Given the description of an element on the screen output the (x, y) to click on. 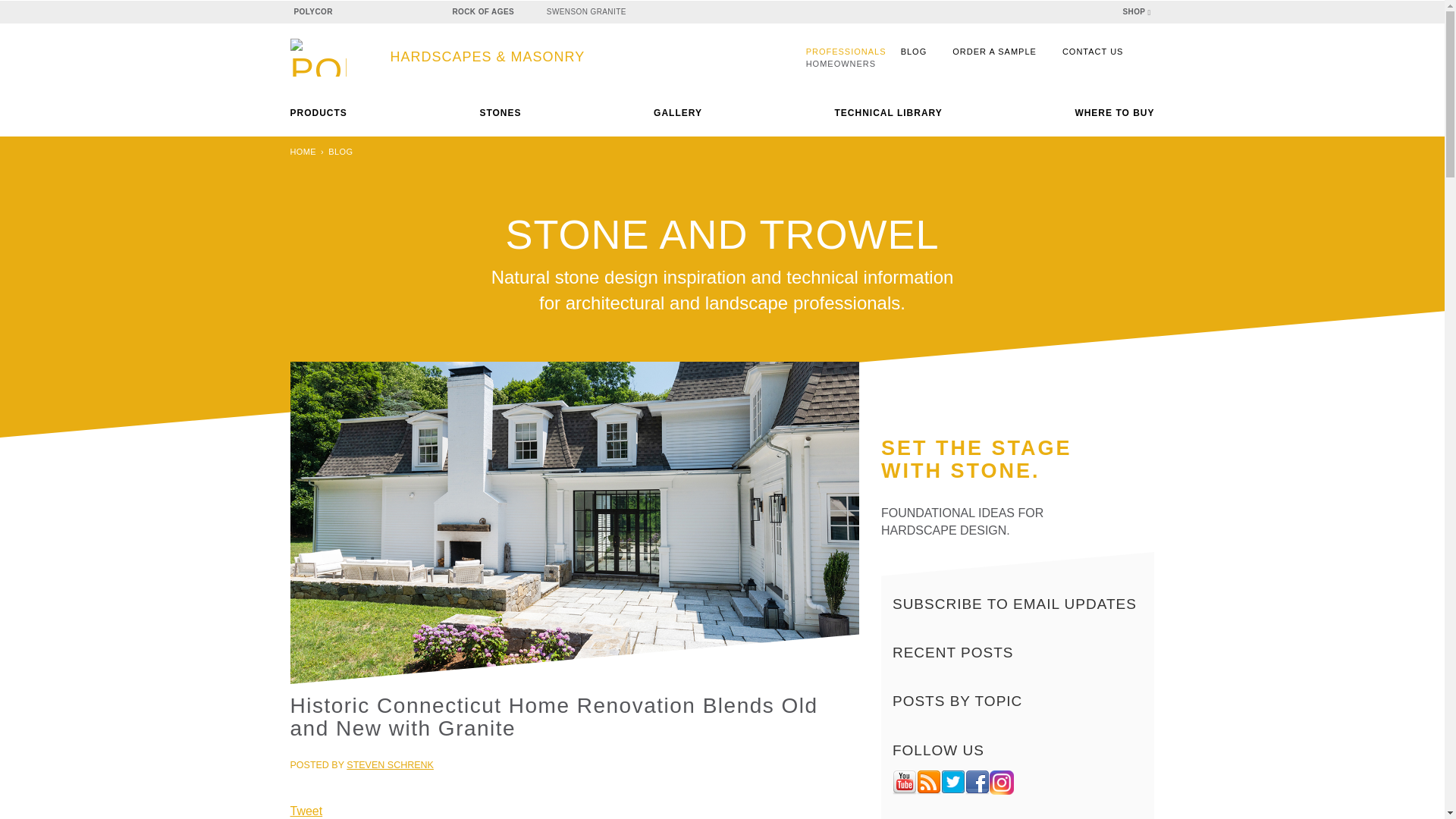
VETRAZZO (403, 13)
Polycor Hardscapes (463, 57)
SHOP (1136, 11)
POLYCOR (324, 11)
Follow us on Twitter (952, 782)
Follow us on RSS (928, 782)
SWENSON GRANITE (598, 11)
Follow us on Facebook (977, 782)
Follow us on Instagram (1001, 782)
PROFESSIONALS (846, 51)
